Given the description of an element on the screen output the (x, y) to click on. 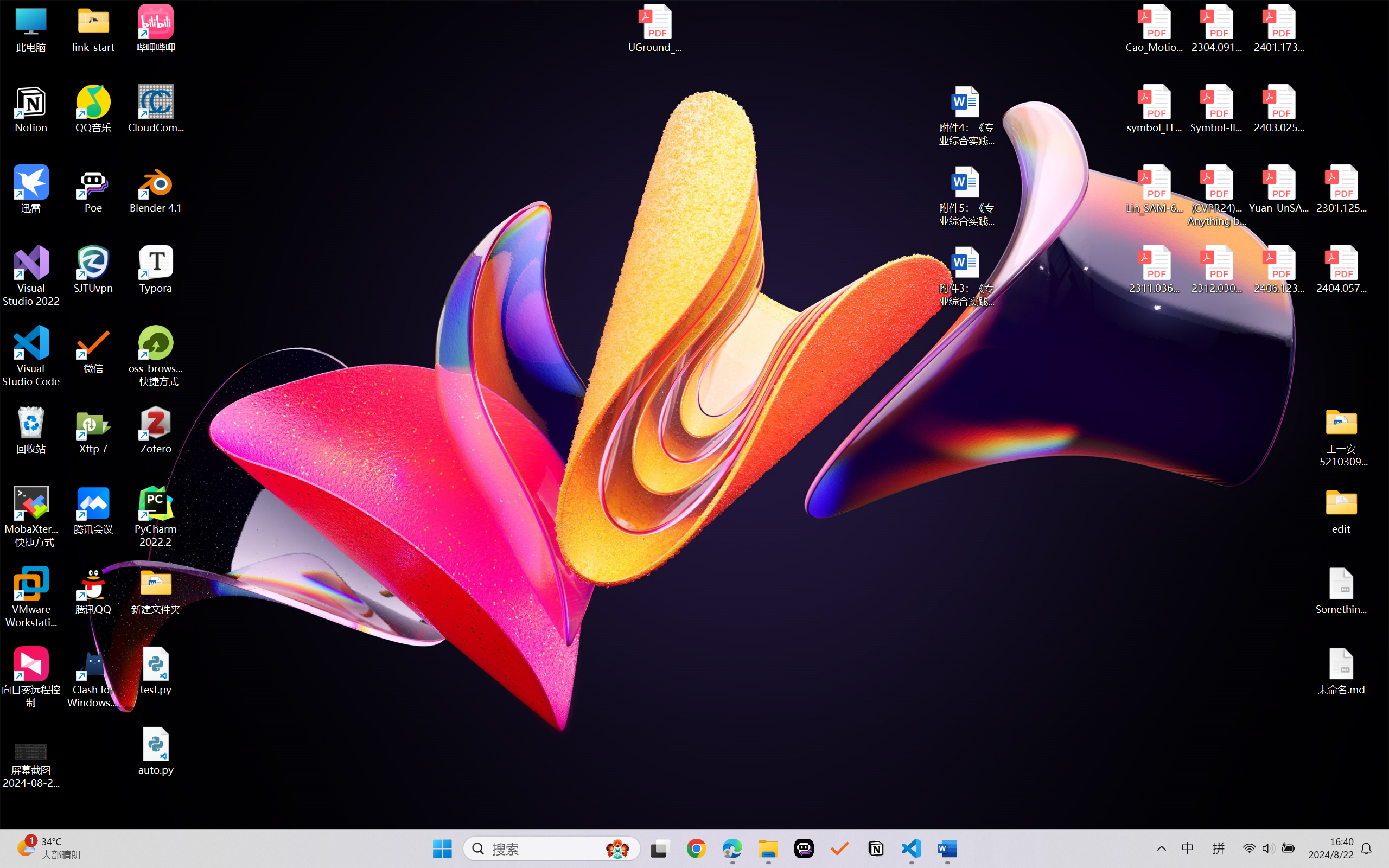
2304.09121v3.pdf (1216, 28)
Something.md (1340, 591)
Xftp 7 (93, 430)
